Given the description of an element on the screen output the (x, y) to click on. 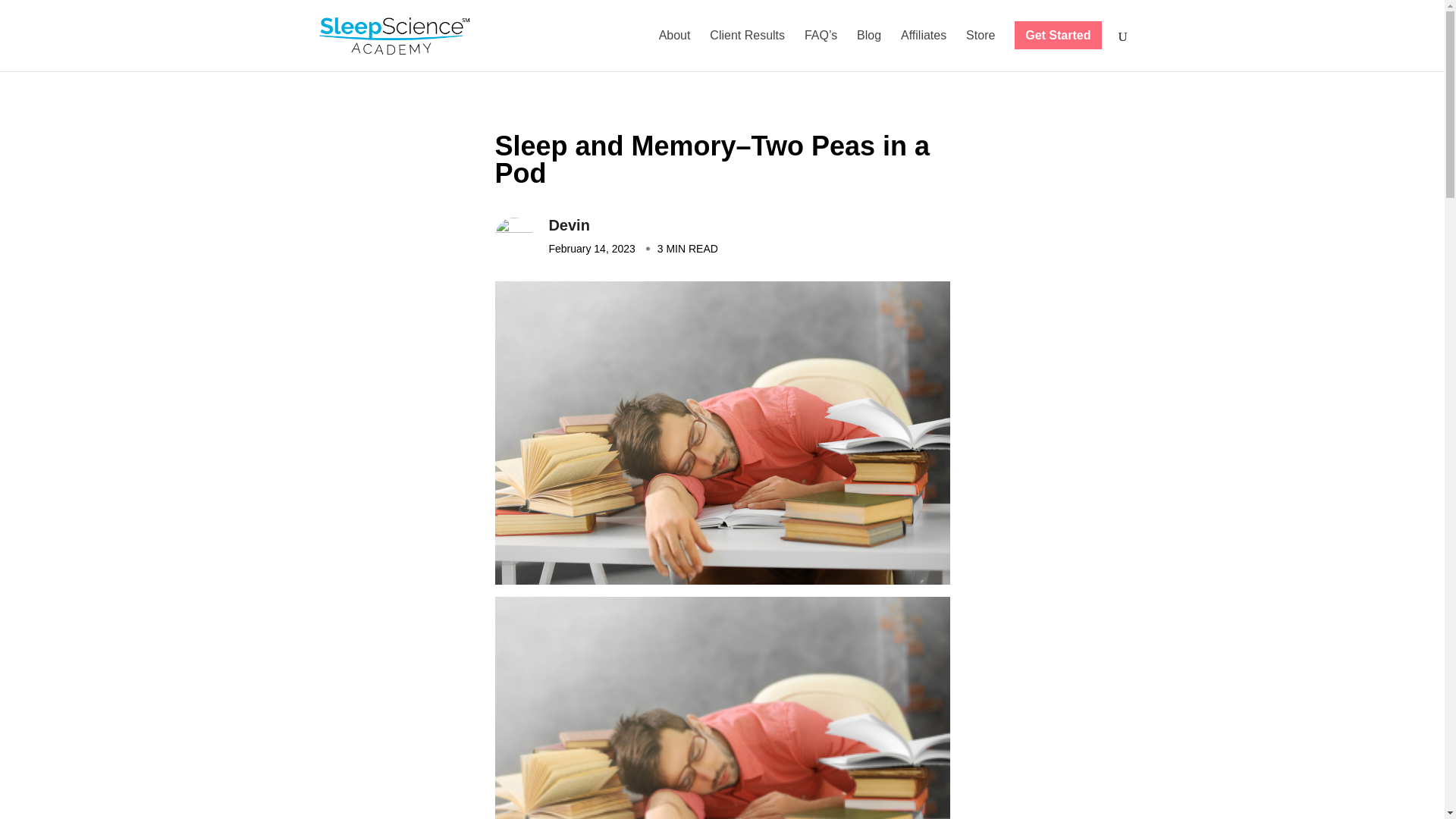
Client Results (747, 50)
Affiliates (923, 50)
Get Started (1057, 50)
